Given the description of an element on the screen output the (x, y) to click on. 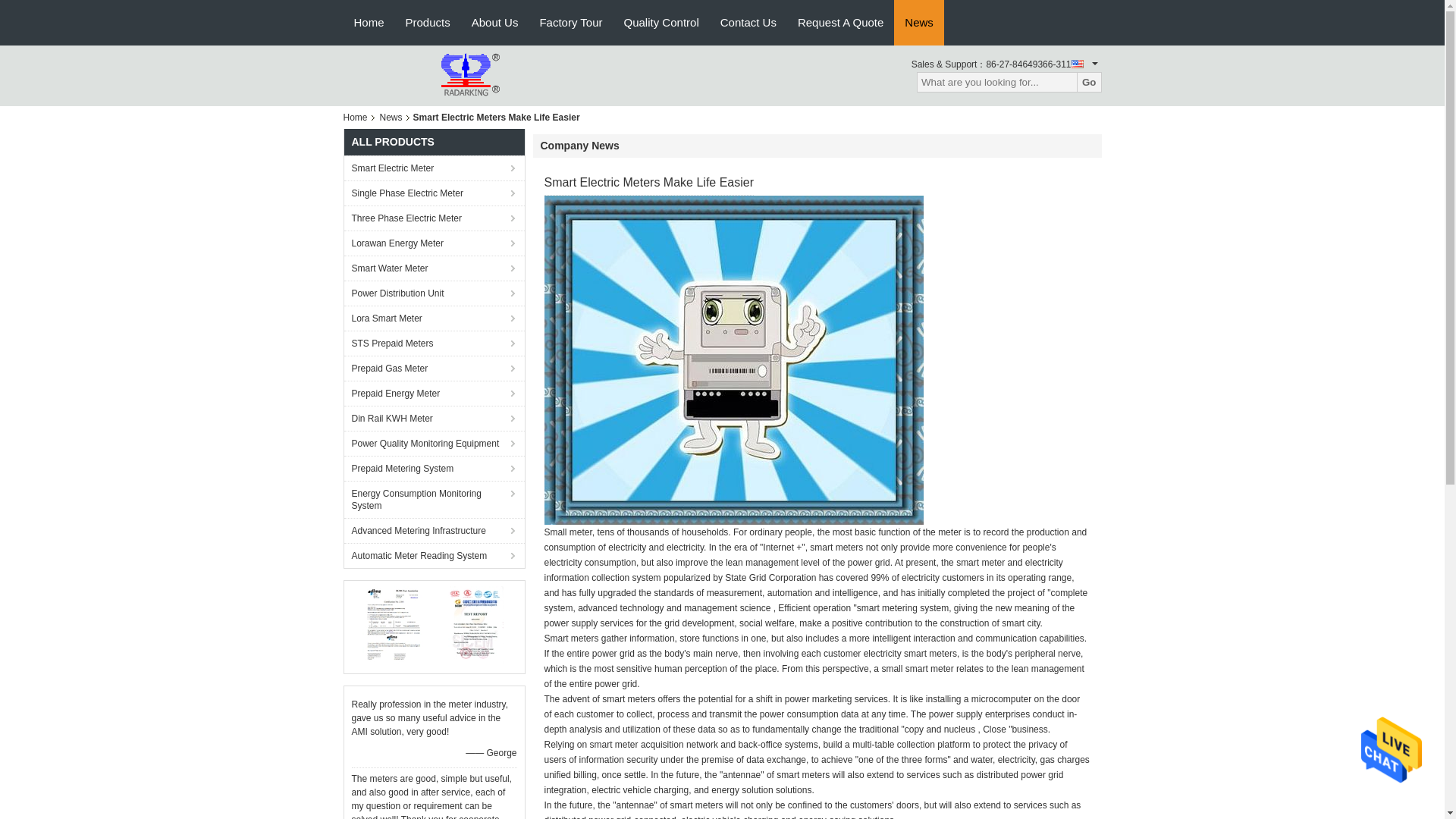
News (391, 117)
Single Phase Electric Meter (433, 192)
Advanced Metering Infrastructure (433, 529)
Products (427, 22)
WUHAN RADARKING ELECTRONICS CORP. (425, 74)
Quality Control (661, 22)
STS Prepaid Meters (433, 342)
Din Rail KWH Meter (433, 417)
Go (1089, 82)
Power Distribution Unit (433, 292)
News (918, 22)
Prepaid Metering System (433, 467)
Prepaid Energy Meter (433, 392)
Three Phase Electric Meter (433, 217)
Power Quality Monitoring Equipment (433, 442)
